Given the description of an element on the screen output the (x, y) to click on. 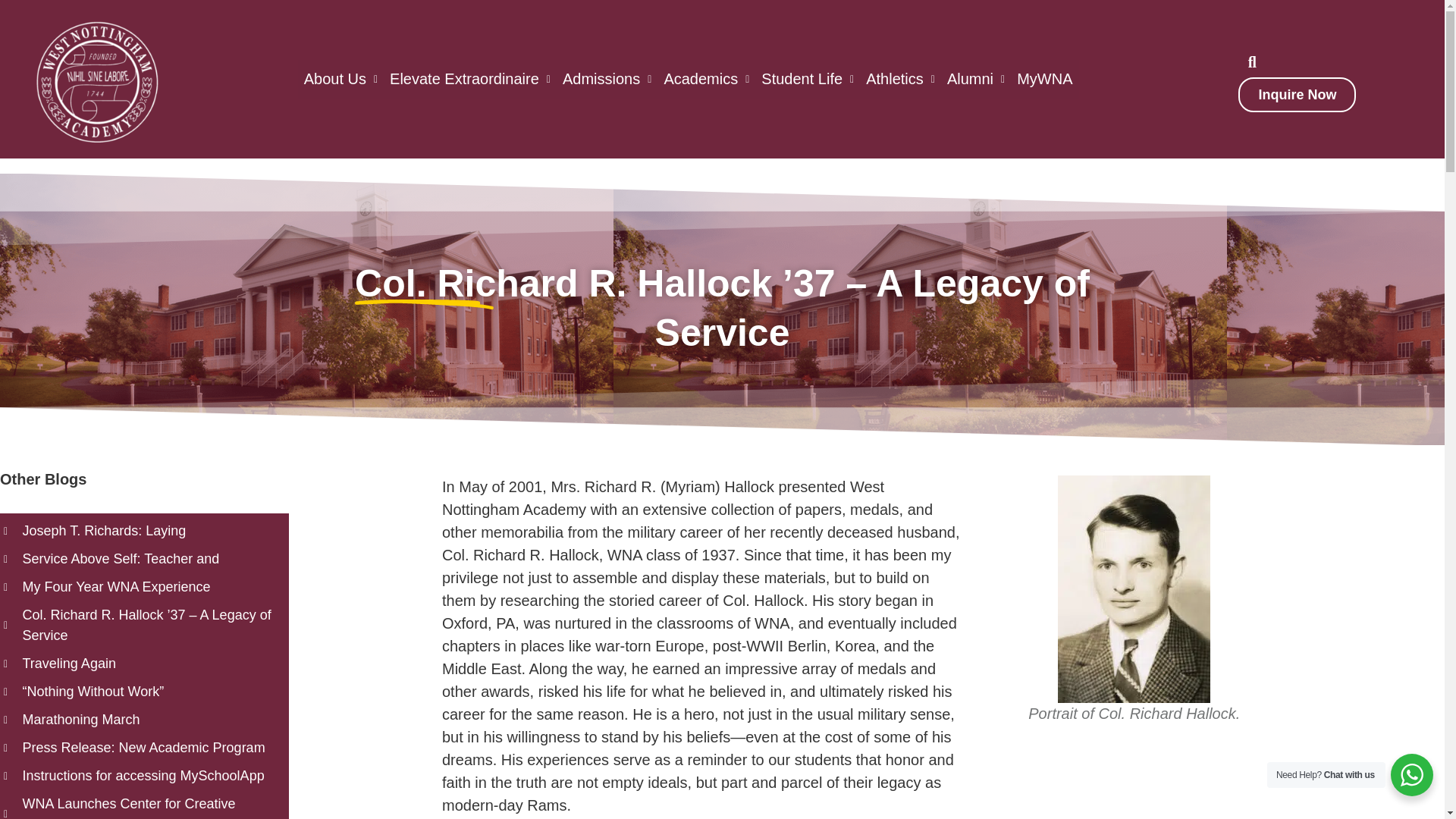
Elevate Extraordinaire (470, 78)
Search (1244, 60)
Admissions (607, 78)
Academics (706, 78)
About Us (341, 78)
